Given the description of an element on the screen output the (x, y) to click on. 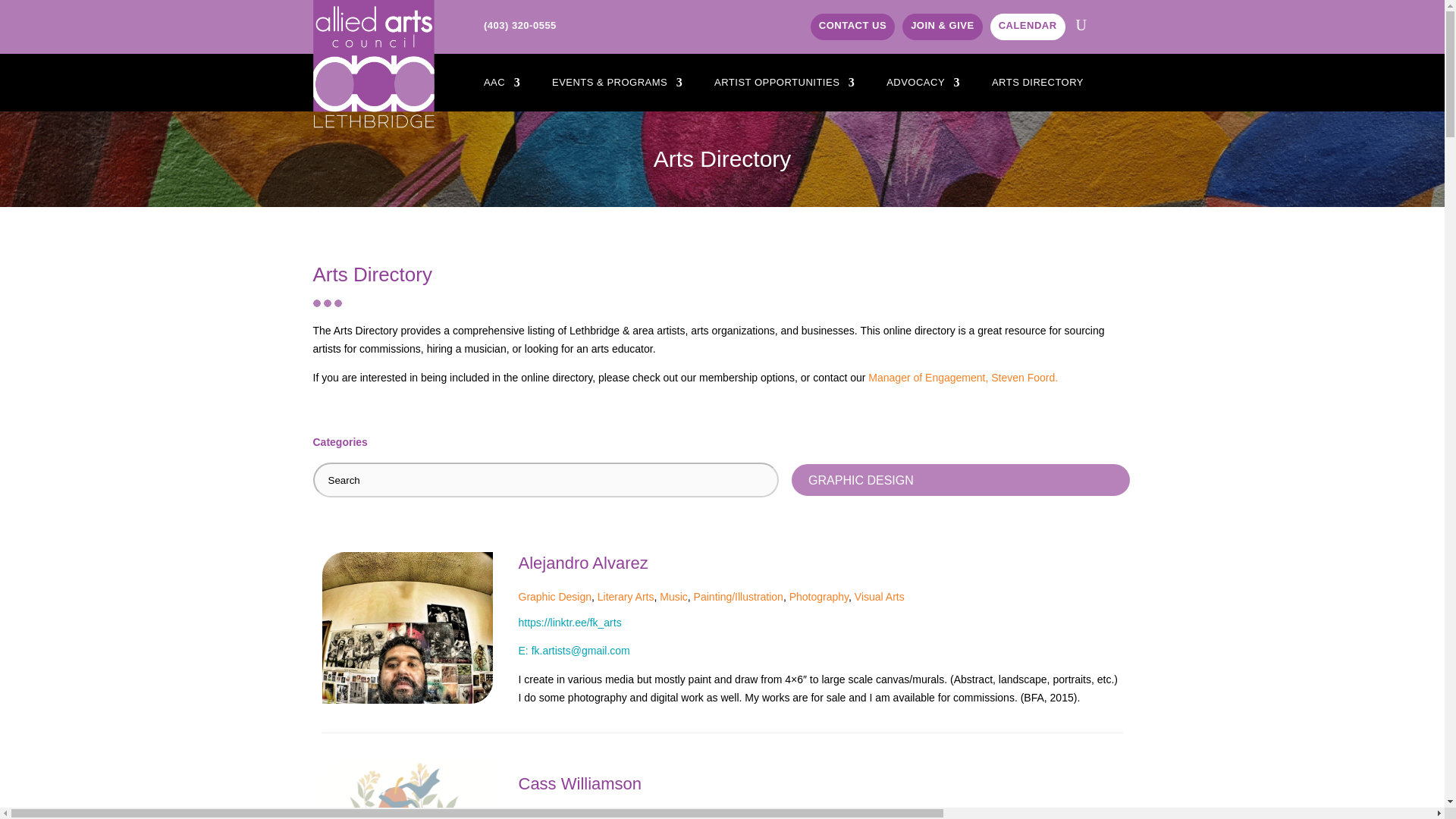
ARTIST OPPORTUNITIES (784, 85)
CONTACT US (852, 26)
AAC (501, 85)
CALENDAR (1027, 26)
ADVOCACY (922, 85)
AAC-Three-Dots-Seperator-Purple (326, 303)
AAC-Logo-300 (373, 64)
